Given the description of an element on the screen output the (x, y) to click on. 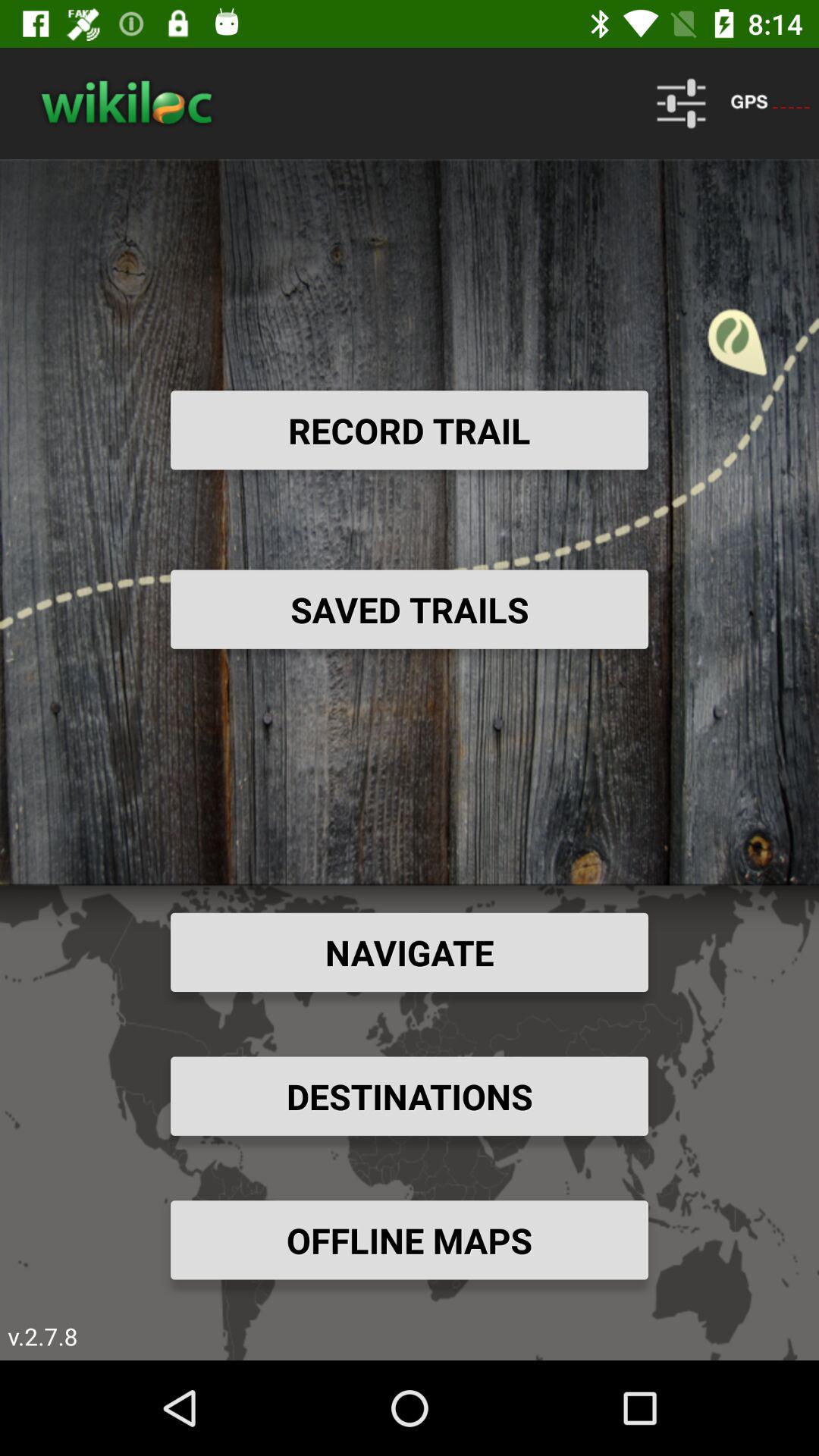
press item above the offline maps icon (409, 1095)
